Given the description of an element on the screen output the (x, y) to click on. 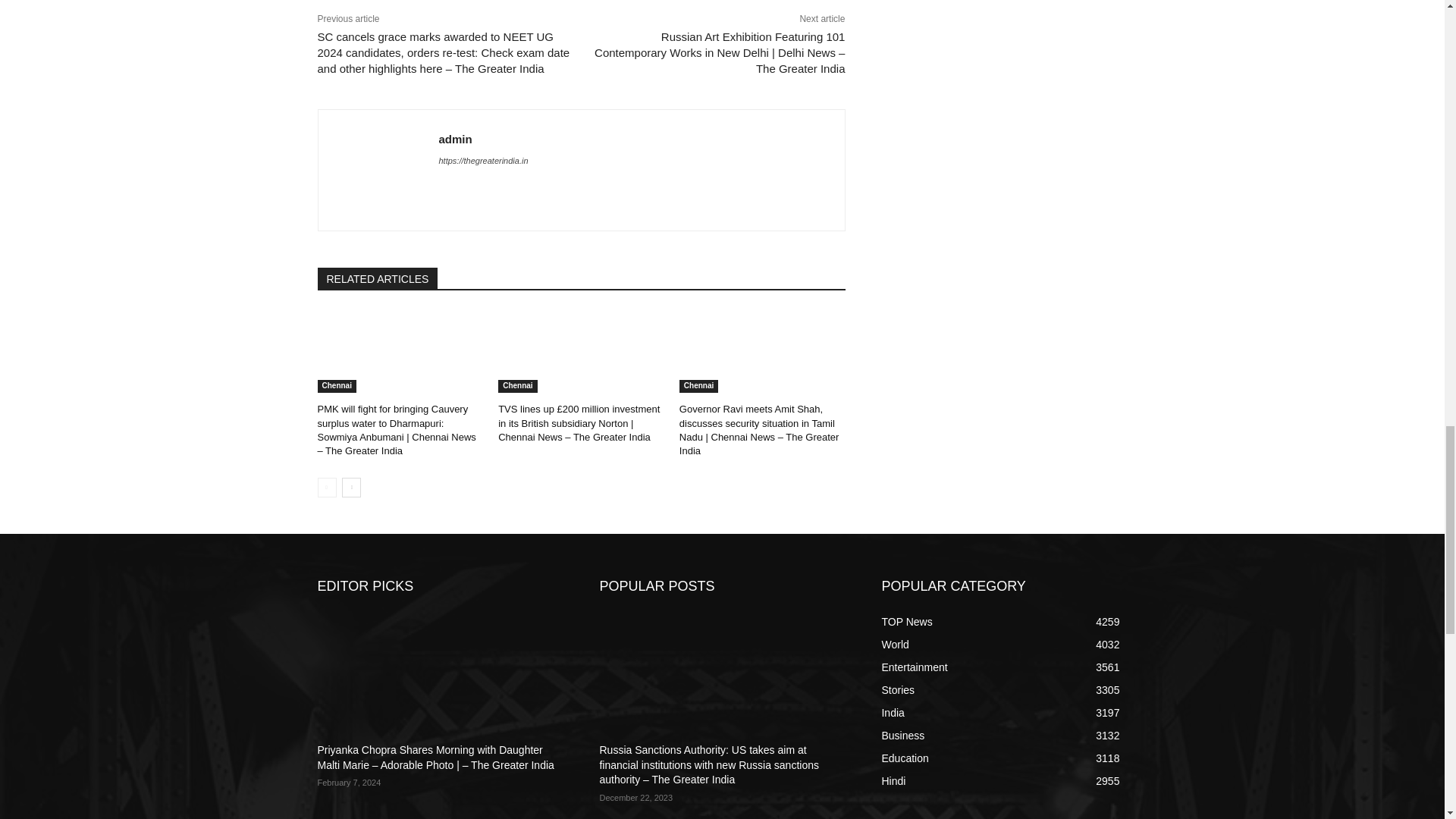
admin (377, 170)
